Given the description of an element on the screen output the (x, y) to click on. 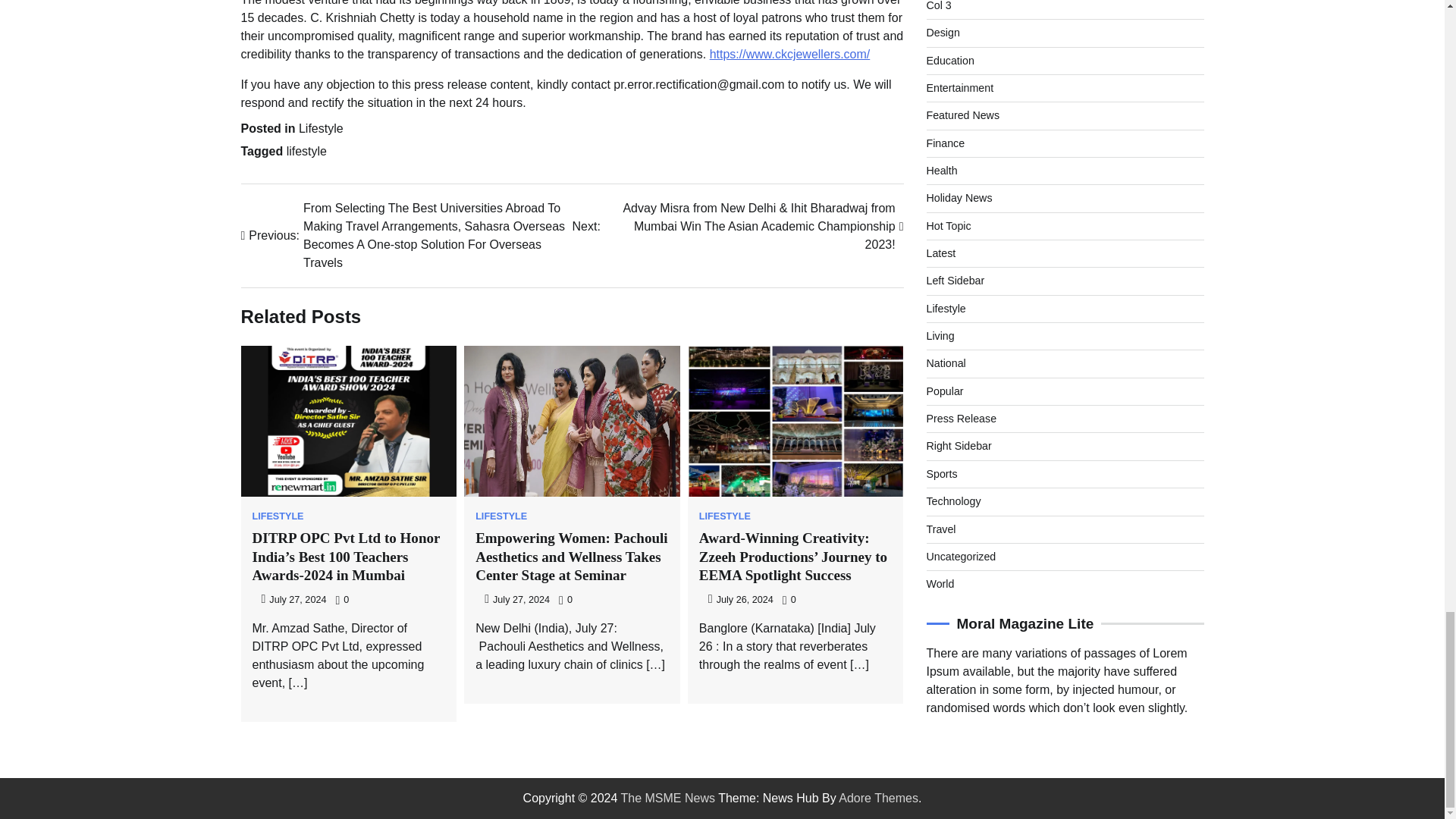
LIFESTYLE (276, 516)
Lifestyle (320, 128)
LIFESTYLE (501, 516)
LIFESTYLE (724, 516)
lifestyle (306, 151)
